Given the description of an element on the screen output the (x, y) to click on. 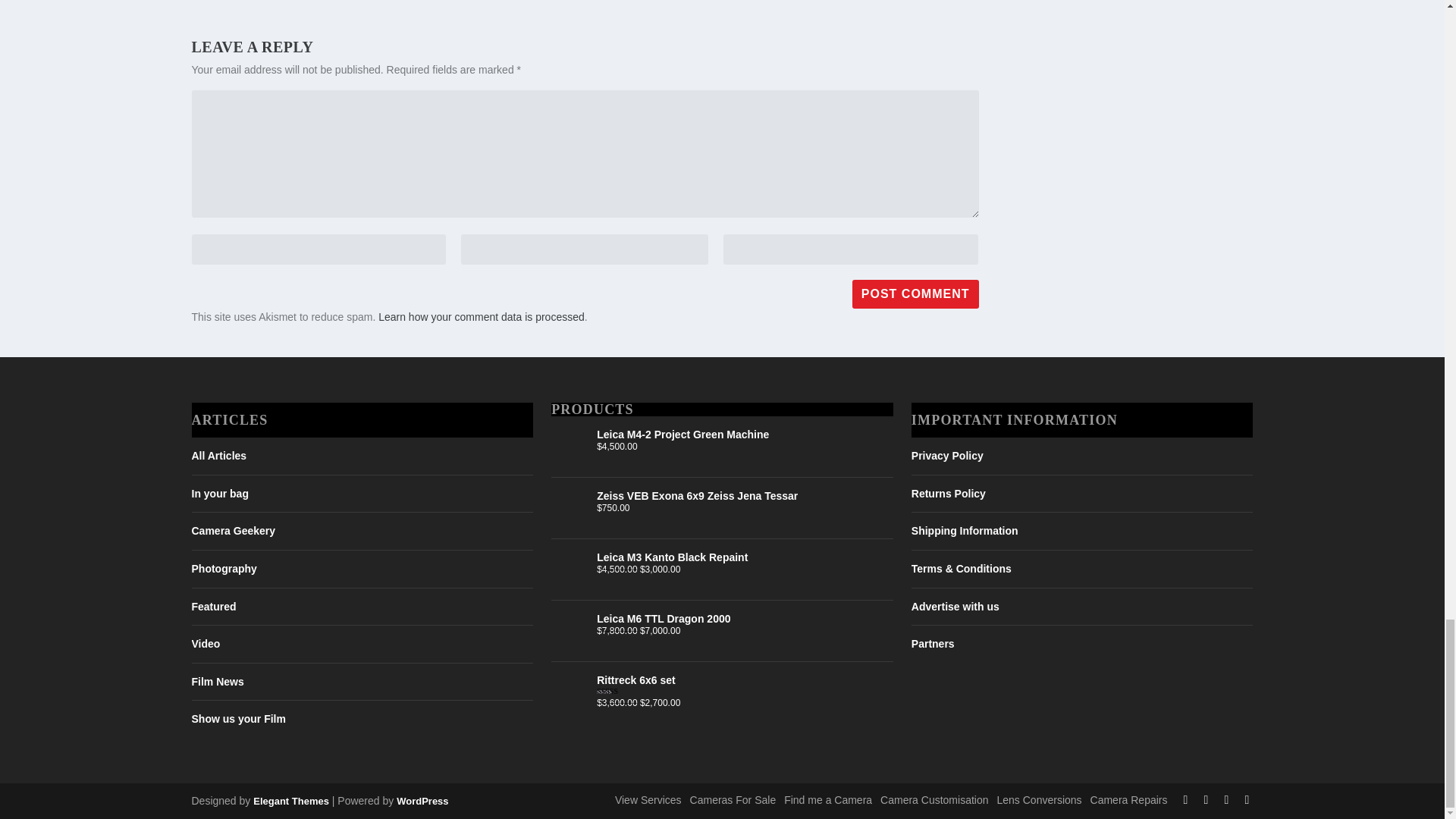
Post Comment (914, 294)
